Given the description of an element on the screen output the (x, y) to click on. 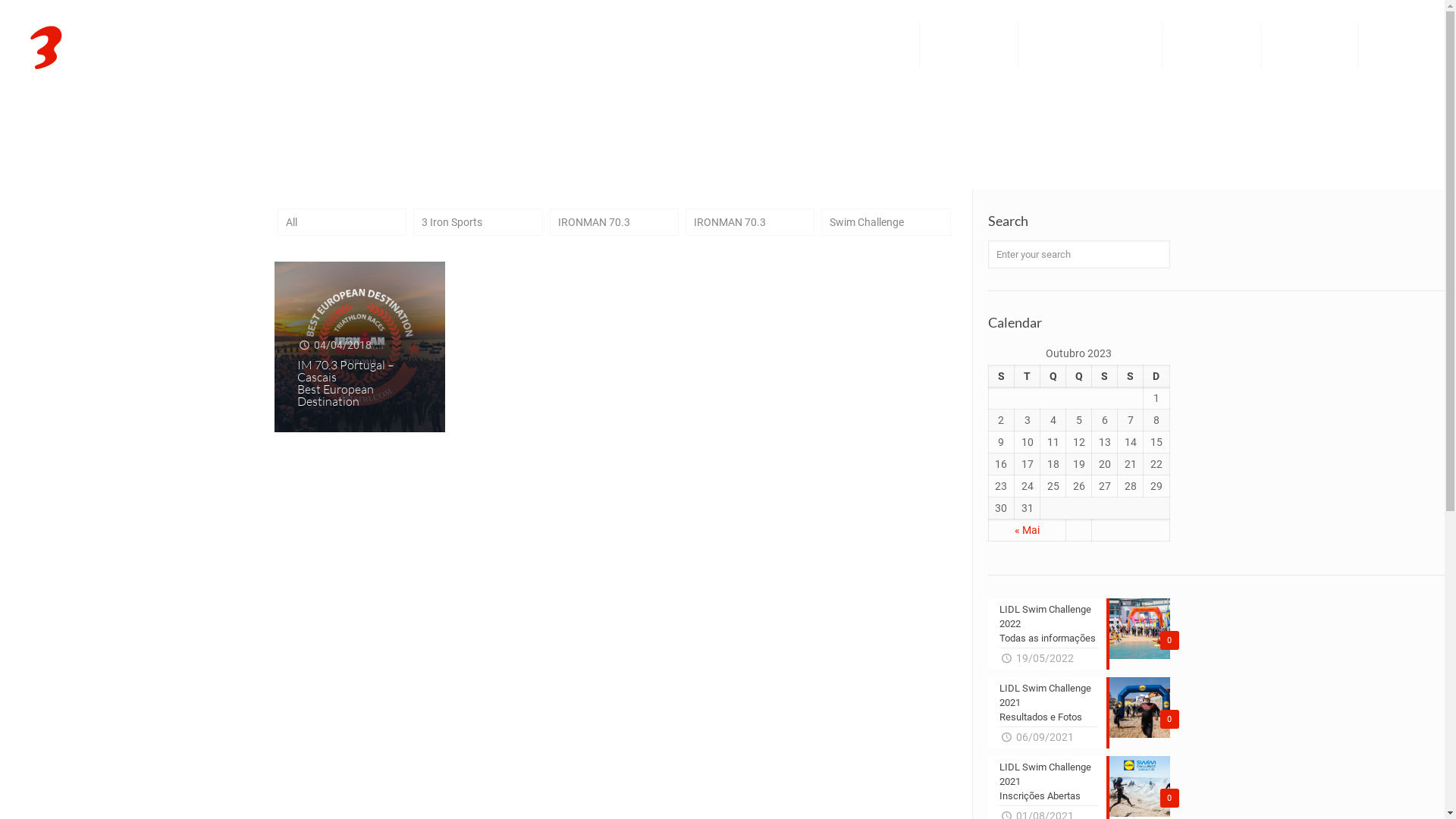
SWIM CHALLENGE Element type: text (968, 45)
0
LIDL Swim Challenge 2021
Resultados e Fotos
06/09/2021 Element type: text (1079, 712)
3 Iron Sports Element type: hover (124, 45)
Swim Challenge Element type: text (885, 221)
IRONMAN 70.3 Element type: text (749, 221)
CONTACTOS Element type: text (1394, 45)
IRONMAN 70.3 Element type: text (613, 221)
All Element type: text (341, 221)
3 Iron Sports Element type: text (477, 221)
STAND UP PADDLE Element type: text (1211, 45)
IRONMAN Cascais Element type: text (1309, 45)
TRAVESSIA LISBOA-CASCAIS Element type: text (1090, 45)
3IRONSPORTS Element type: text (879, 45)
